Given the description of an element on the screen output the (x, y) to click on. 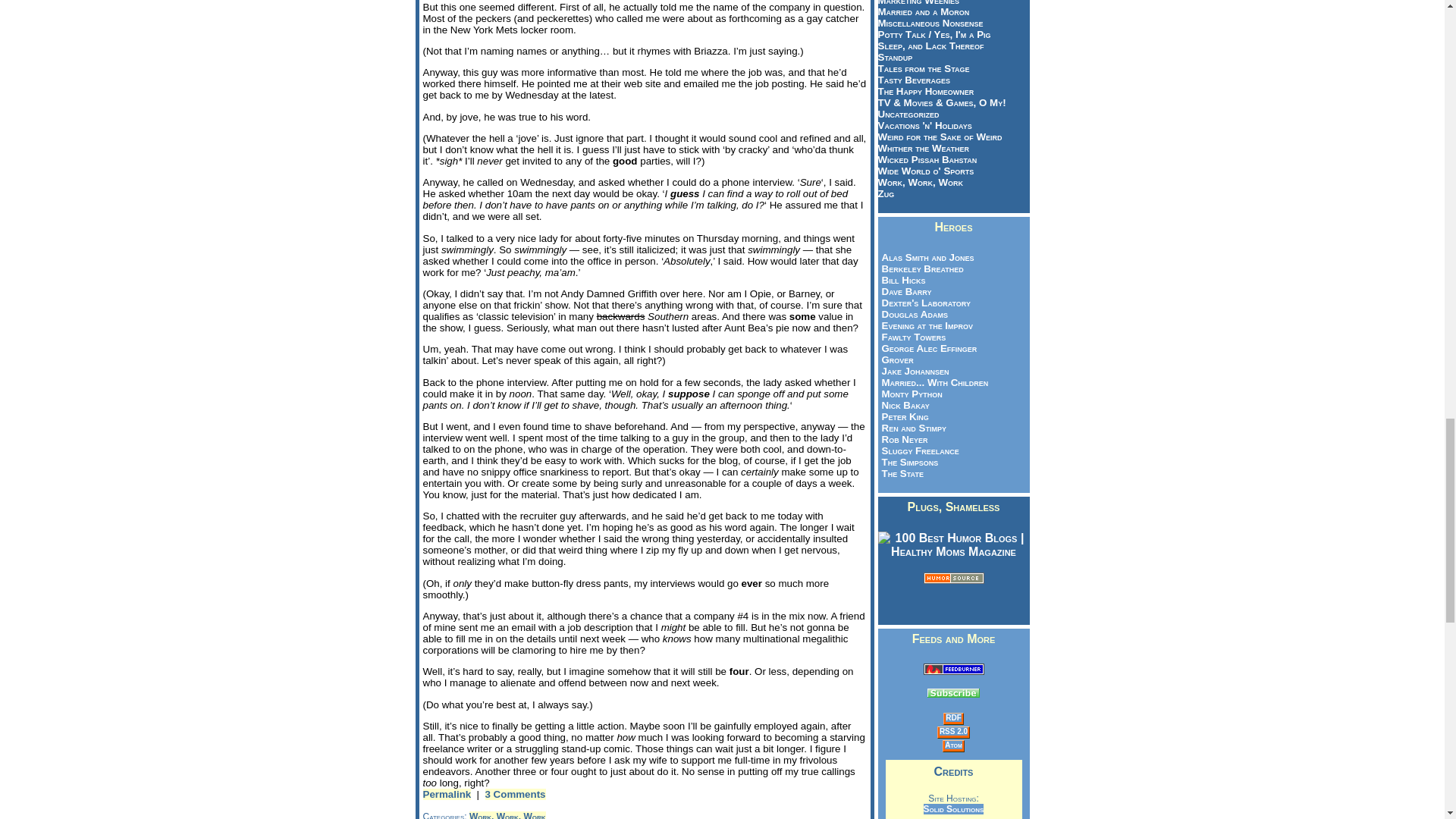
Permalink (447, 794)
Atom (953, 745)
3 Comments (515, 794)
Work, Work, Work (507, 815)
Subscribe to my feed (953, 670)
RSS 2.0 (953, 731)
RSD (952, 717)
